Given the description of an element on the screen output the (x, y) to click on. 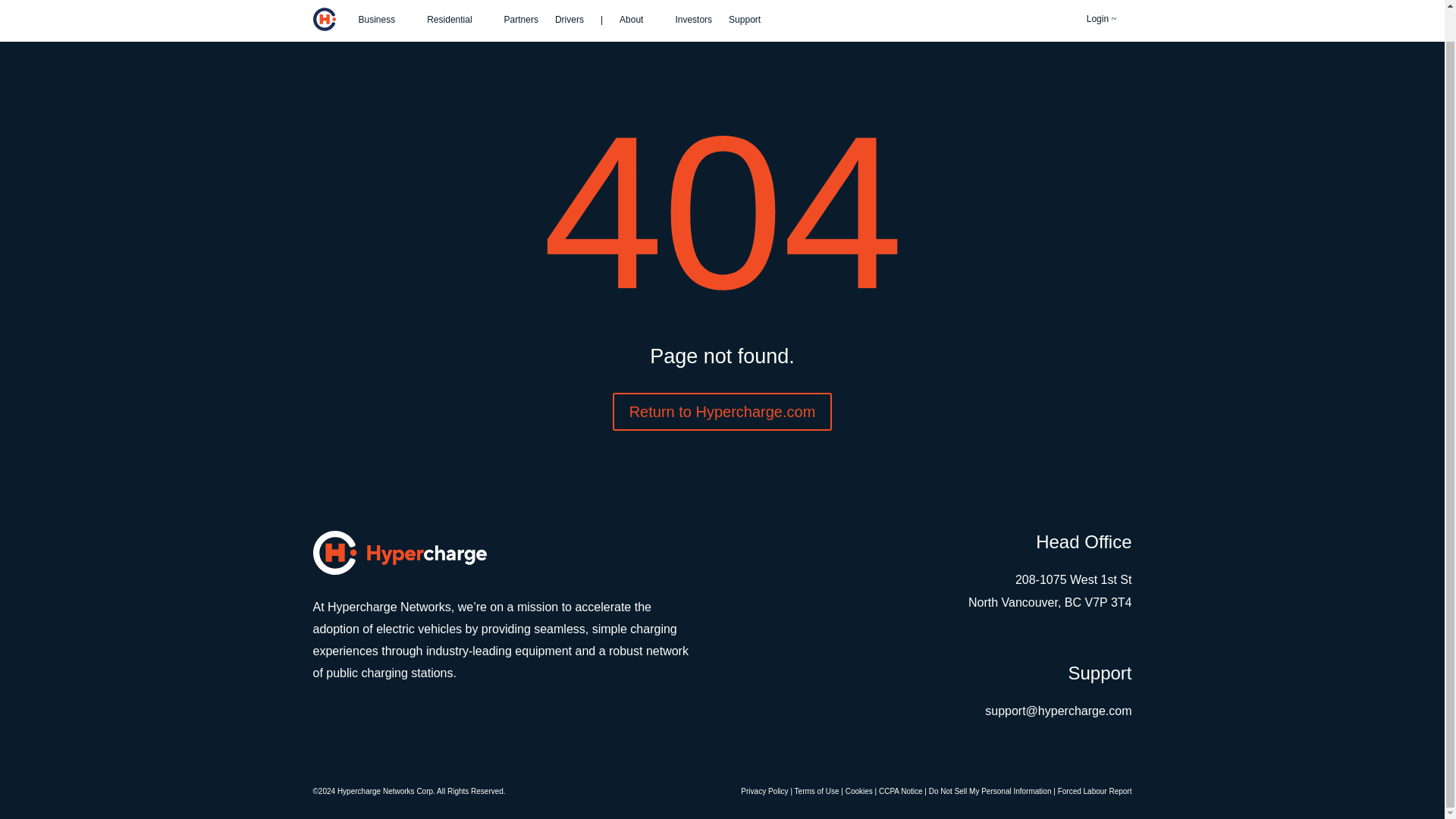
Forced Labour Report (1095, 791)
Terms of Use (817, 791)
Do Not Sell My Personal Information (989, 791)
HC-Horizontal-W (399, 552)
CCPA Notice (901, 791)
Privacy Policy (764, 791)
Cookies (858, 791)
Return to Hypercharge.com (722, 411)
Residential (456, 24)
Business (384, 24)
